Given the description of an element on the screen output the (x, y) to click on. 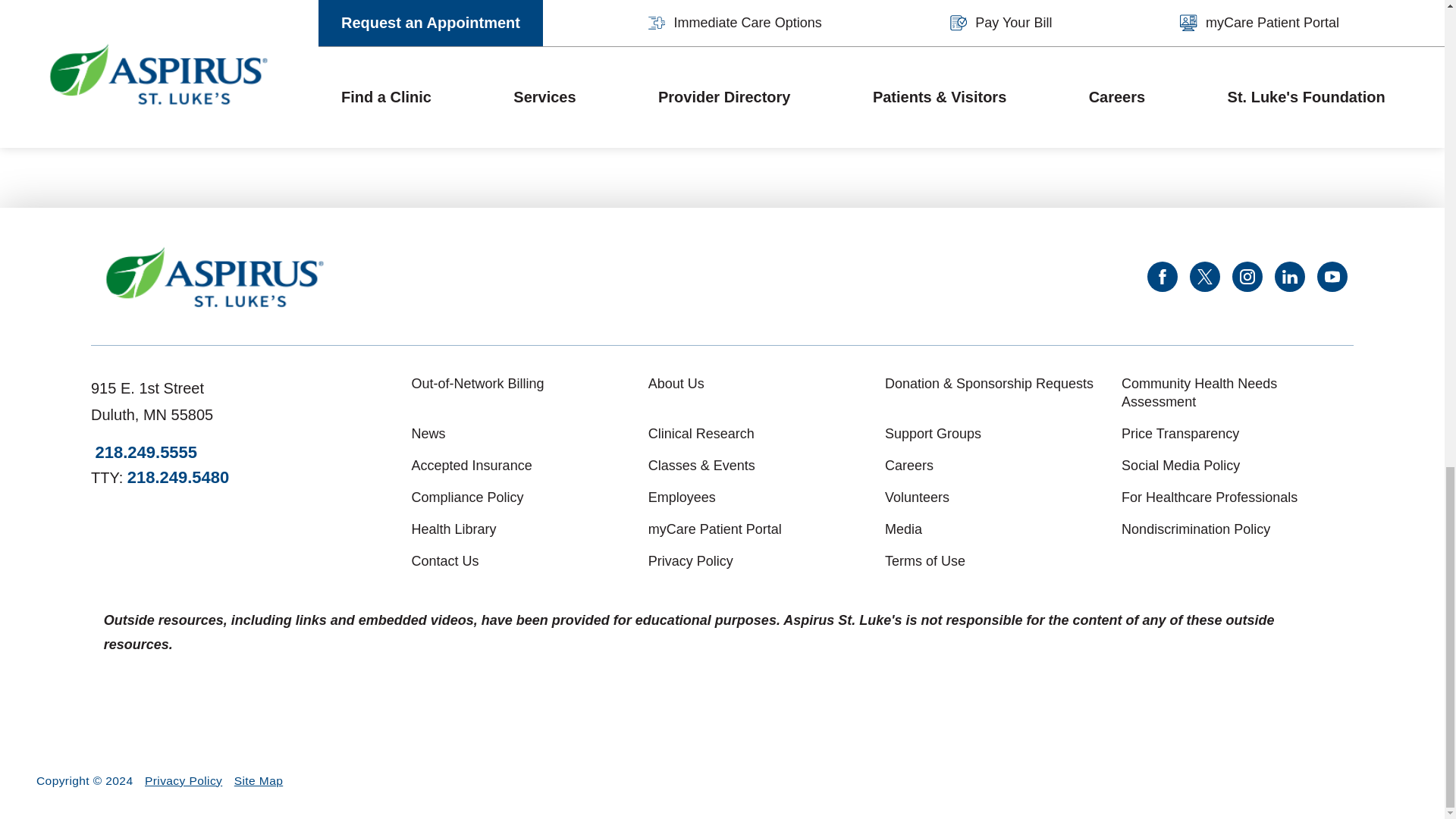
LinkedIn (1289, 276)
YouTube (1332, 276)
Facebook (1162, 276)
Instagram (1246, 276)
Twitter (1204, 276)
Aspirus St. Luke's (214, 277)
